Given the description of an element on the screen output the (x, y) to click on. 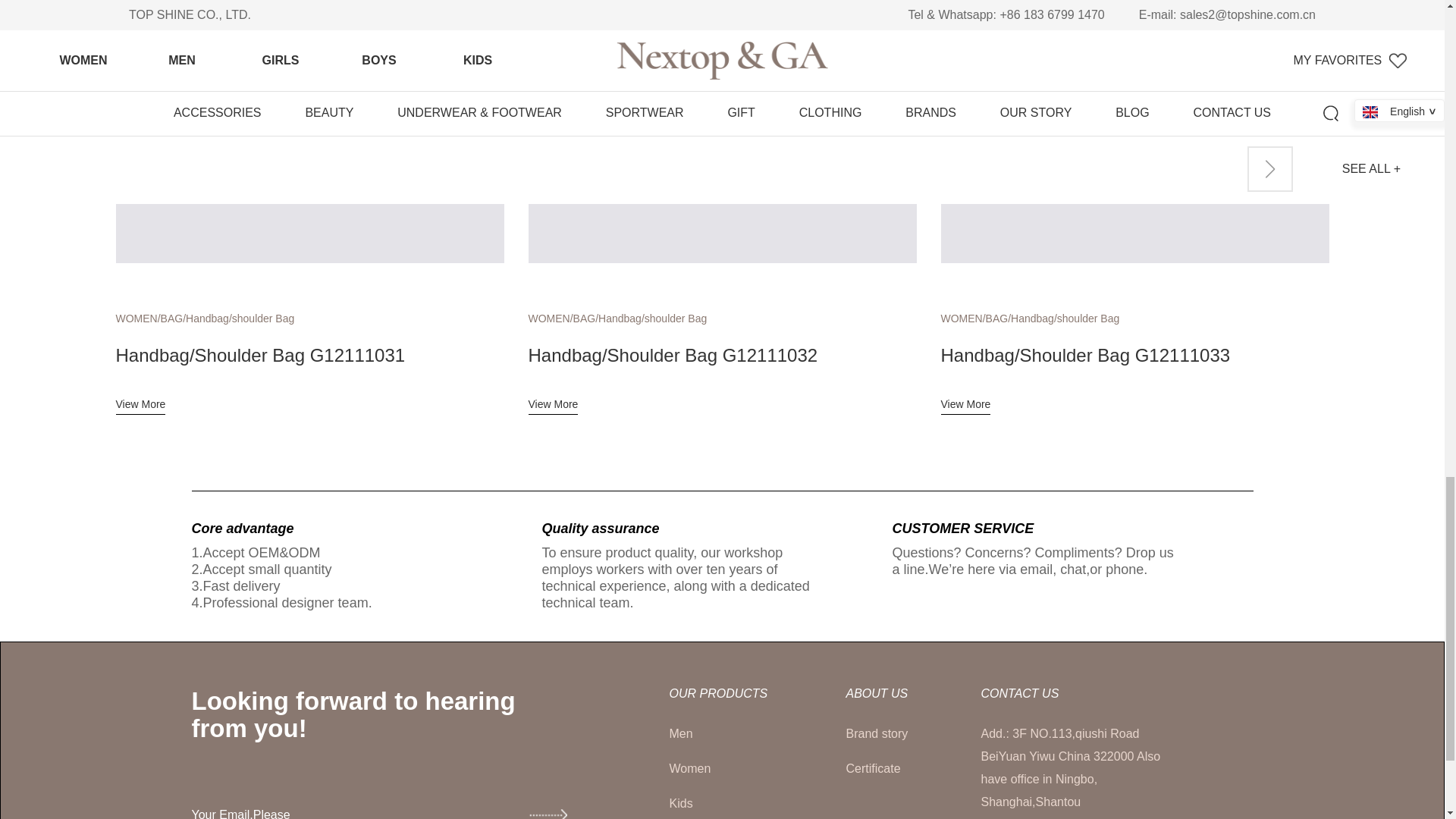
Women (723, 768)
OUR PRODUCTS (723, 693)
Men (723, 733)
